Given the description of an element on the screen output the (x, y) to click on. 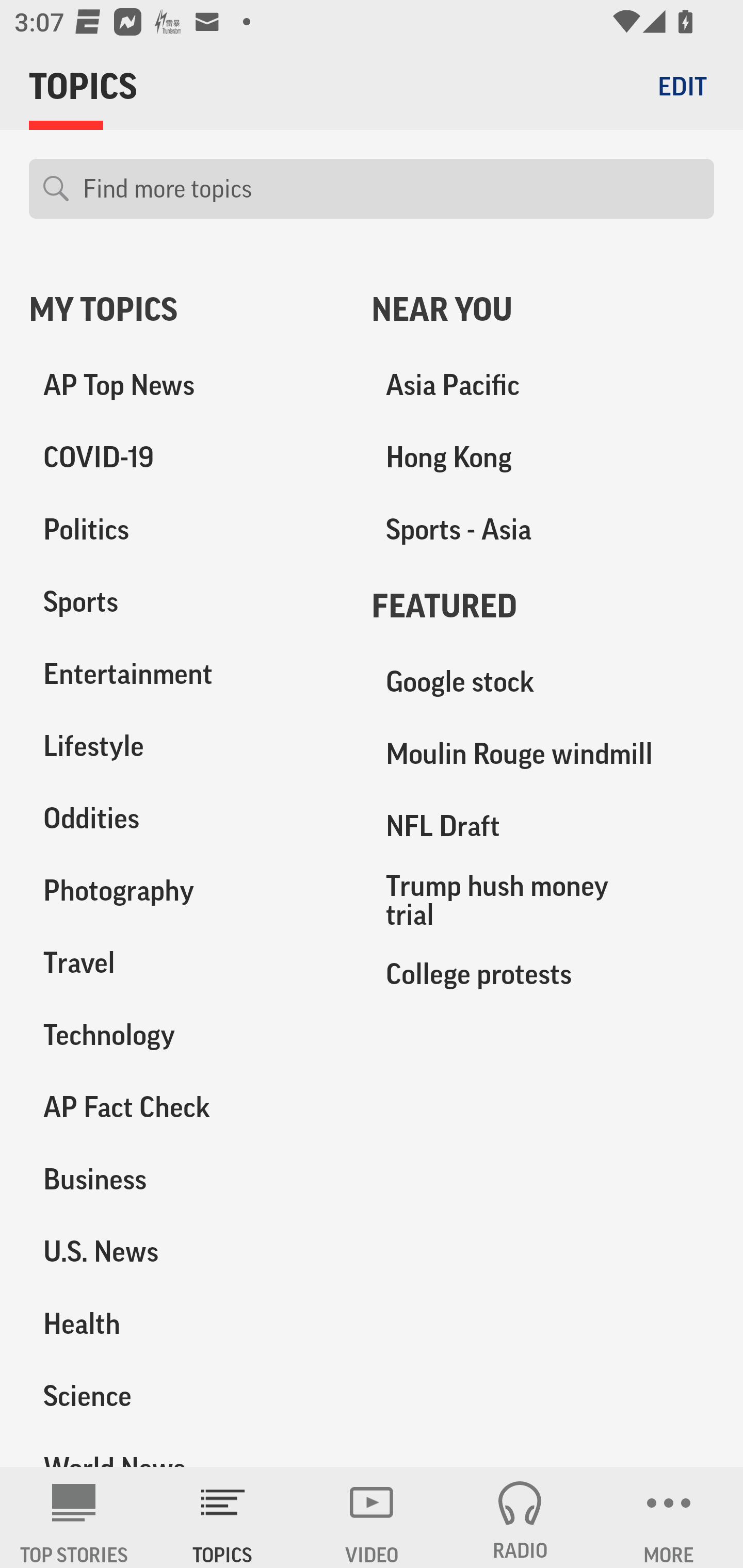
EDIT (682, 86)
Find more topics (391, 188)
AP Top News (185, 385)
Asia Pacific (542, 385)
COVID-19 (185, 457)
Hong Kong (542, 457)
Politics (185, 529)
Sports - Asia (542, 529)
Sports (185, 602)
Entertainment (185, 674)
Google stock (542, 682)
Lifestyle (185, 746)
Moulin Rouge windmill (542, 754)
Oddities (185, 818)
NFL Draft (542, 826)
Photography (185, 890)
Trump hush money trial (542, 899)
Travel (185, 962)
College protests (542, 973)
Technology (185, 1034)
AP Fact Check (185, 1106)
Business (185, 1179)
U.S. News (185, 1251)
Health (185, 1323)
Science (185, 1395)
AP News TOP STORIES (74, 1517)
TOPICS (222, 1517)
VIDEO (371, 1517)
RADIO (519, 1517)
MORE (668, 1517)
